Given the description of an element on the screen output the (x, y) to click on. 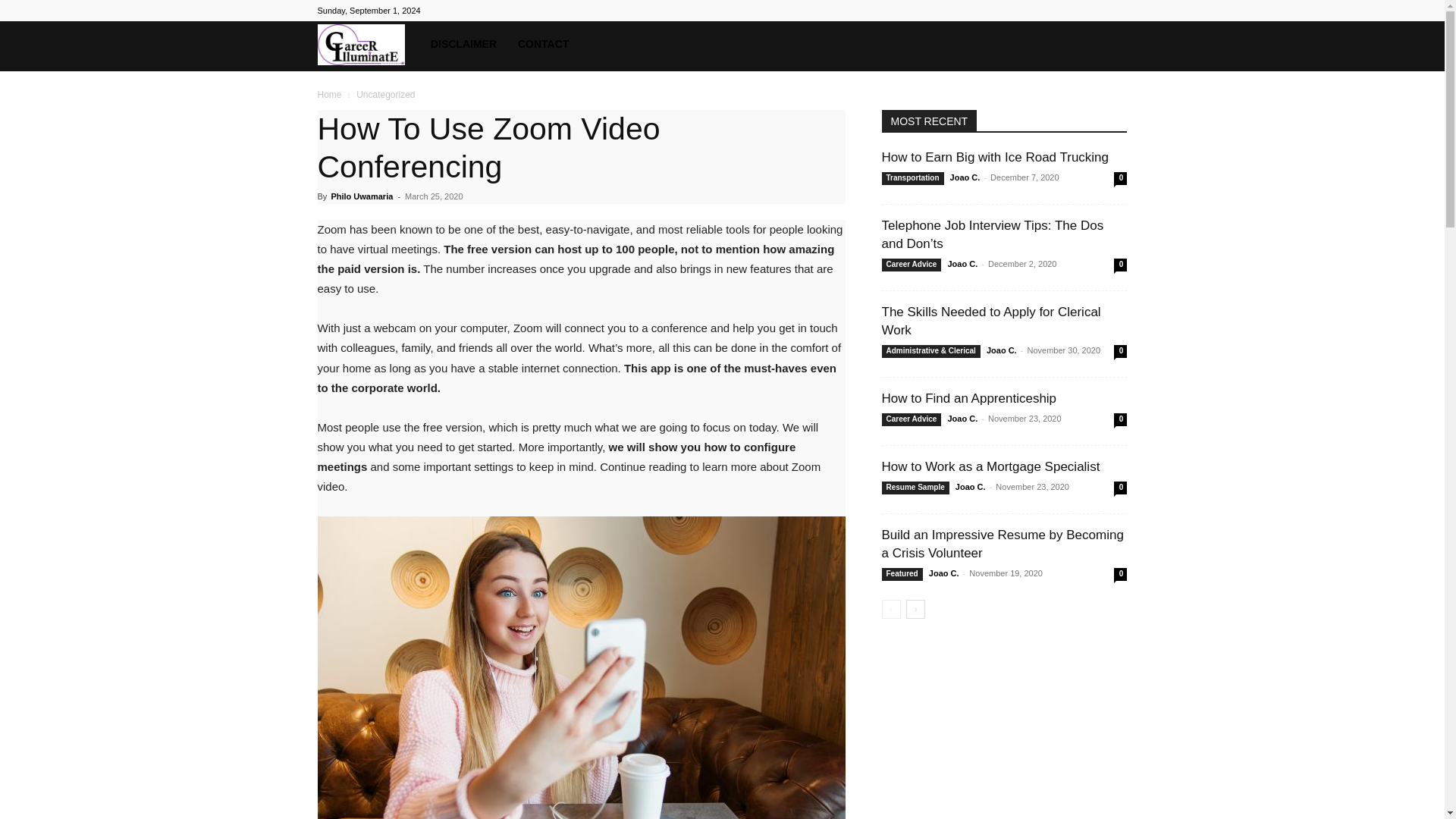
The Skills Needed to Apply for Clerical Work (990, 320)
DISCLAIMER (463, 43)
Home (328, 94)
How to Find an Apprenticeship (968, 398)
Joao C. (964, 176)
0 (1119, 178)
0 (1119, 350)
How to Work as a Mortgage Specialist (989, 466)
Build an Impressive Resume by Becoming a Crisis Volunteer (1001, 543)
Transportation (911, 178)
